Given the description of an element on the screen output the (x, y) to click on. 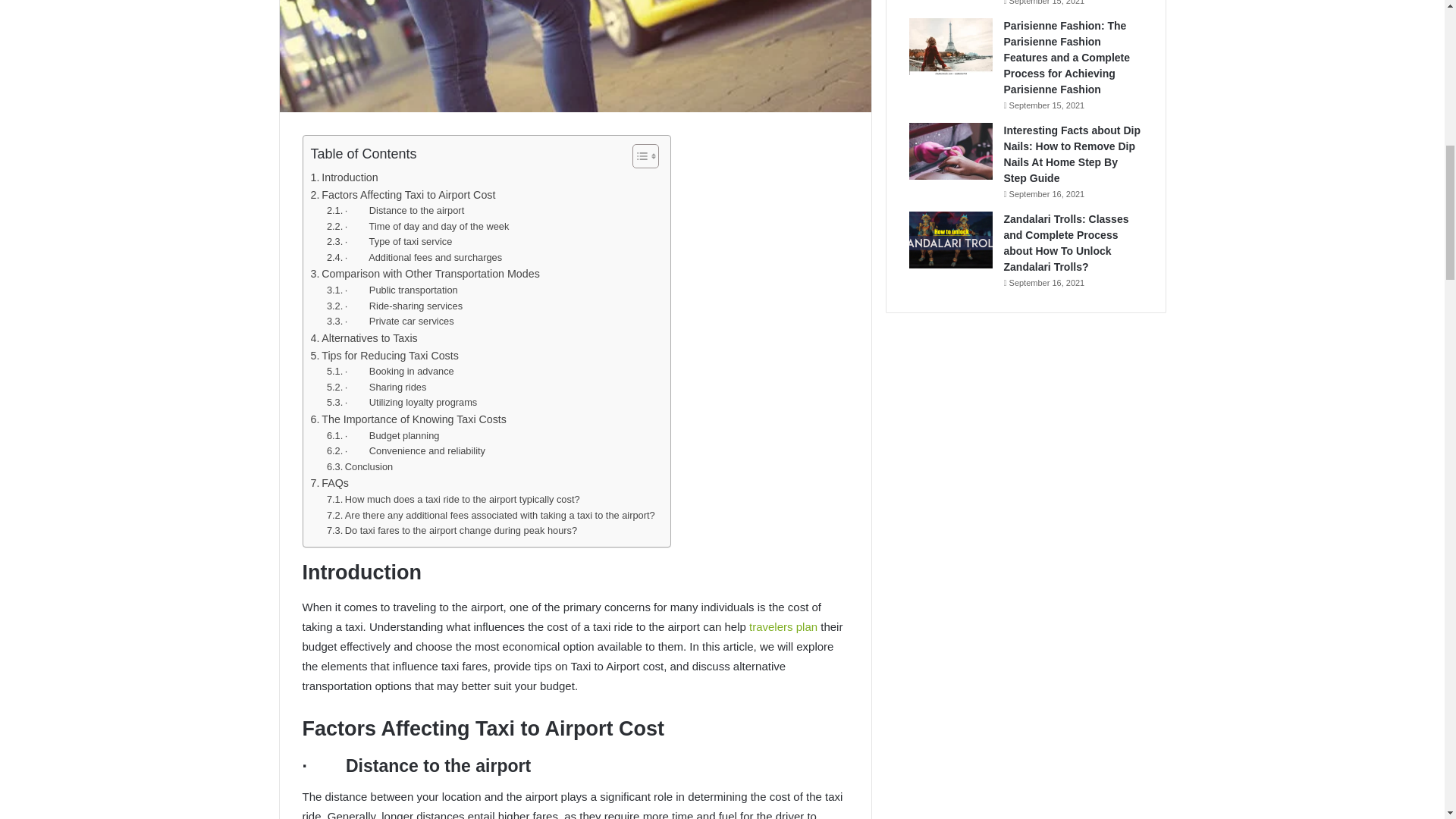
Comparison with Other Transportation Modes (425, 273)
Factors Affecting Taxi to Airport Cost (403, 194)
Introduction (344, 177)
